Given the description of an element on the screen output the (x, y) to click on. 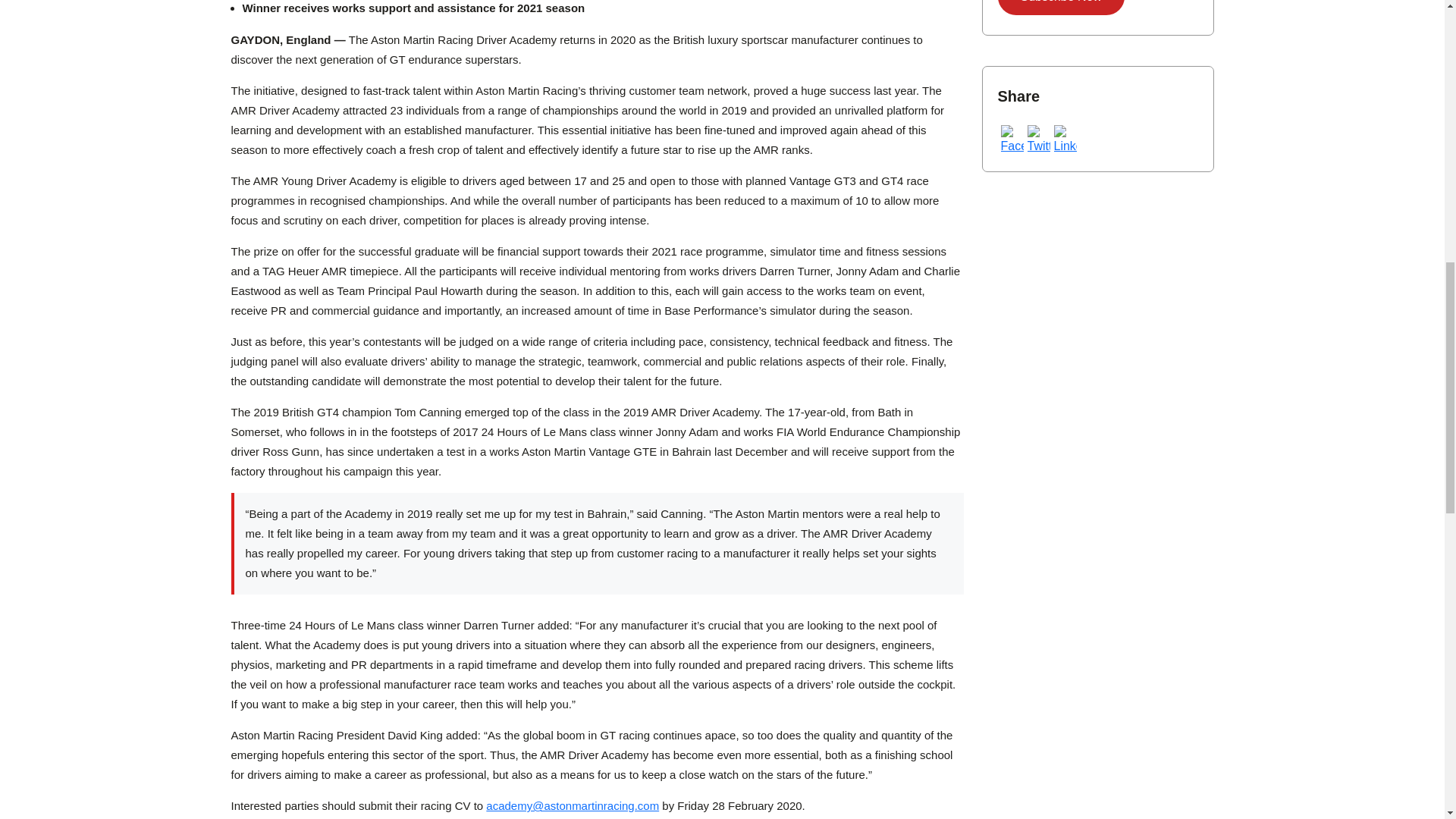
Subscribe Now (1061, 7)
Subscribe Now (1061, 7)
